Given the description of an element on the screen output the (x, y) to click on. 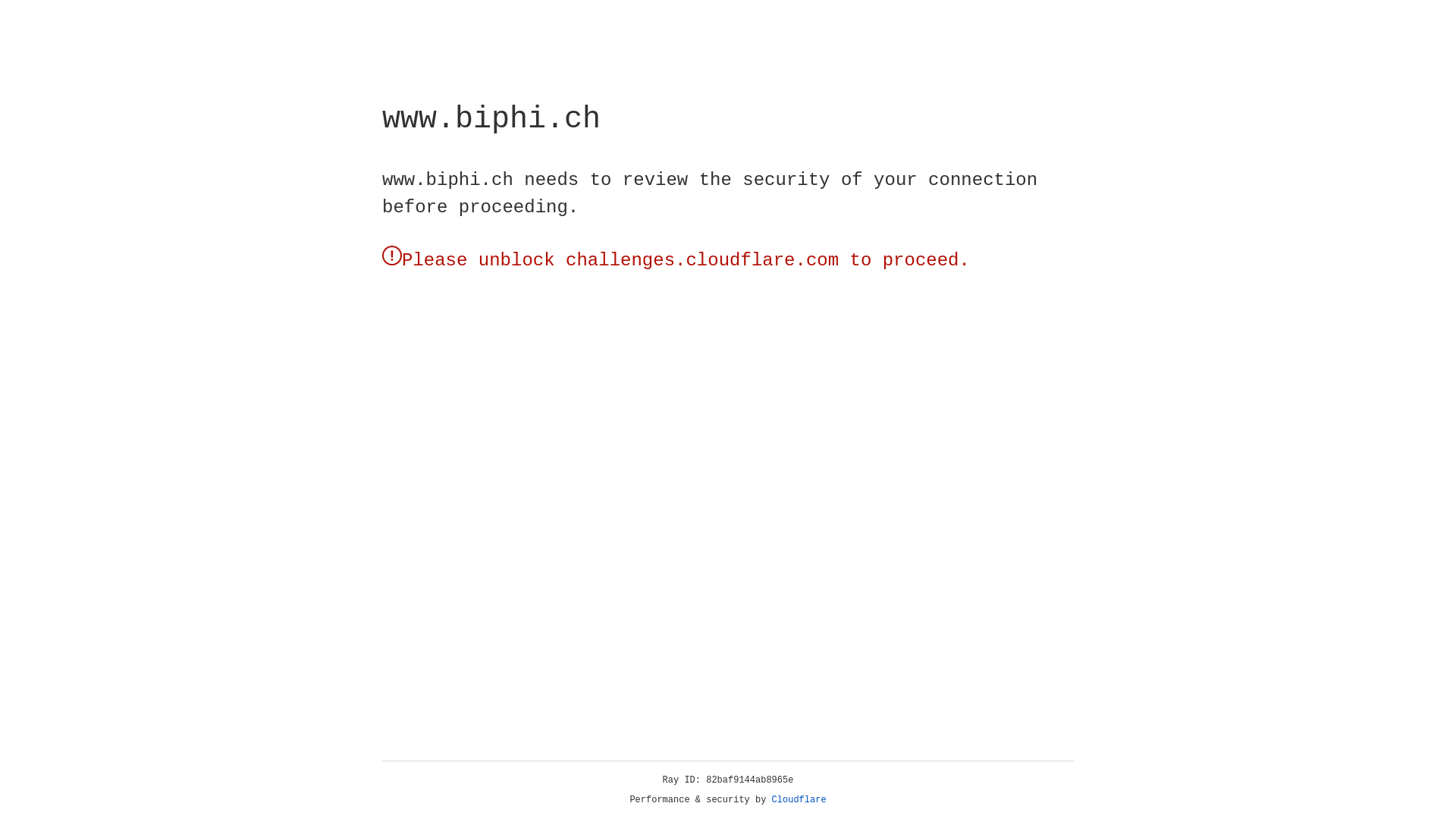
Cloudflare Element type: text (798, 799)
